Given the description of an element on the screen output the (x, y) to click on. 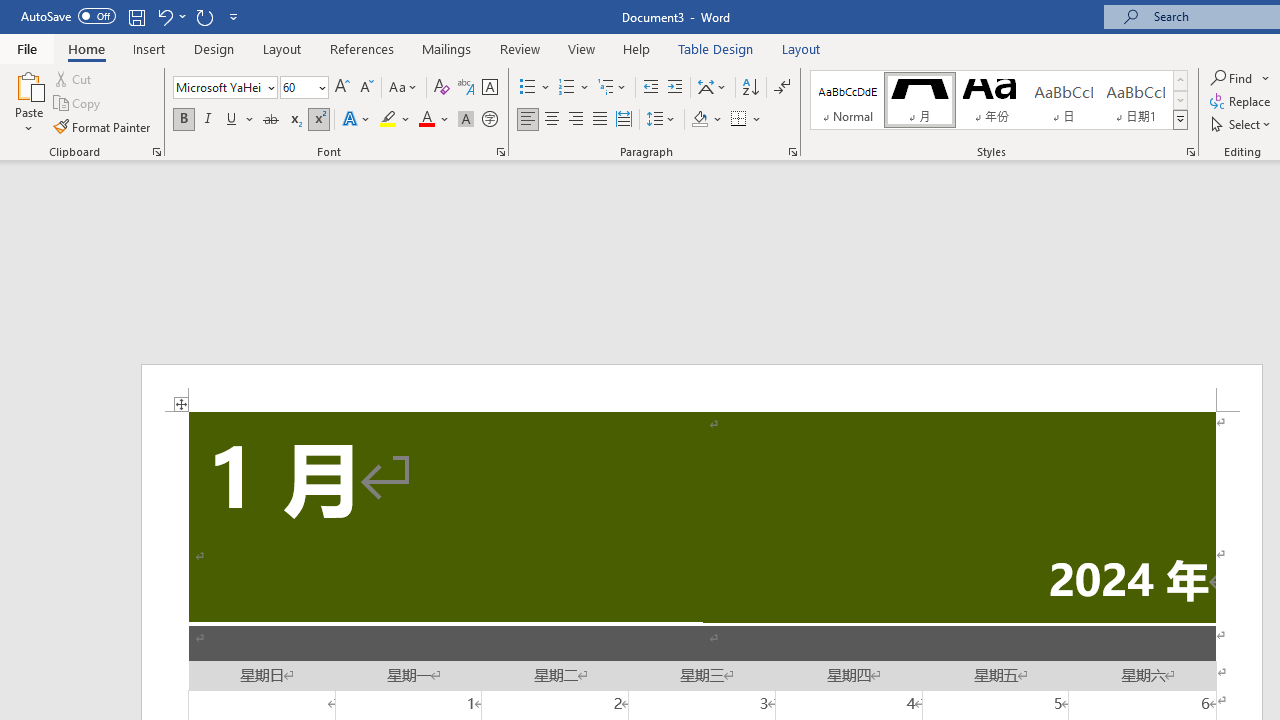
Layout (801, 48)
Customize Quick Access Toolbar (234, 15)
Text Highlight Color (395, 119)
Paragraph... (792, 151)
Undo Superscript (164, 15)
Shading RGB(0, 0, 0) (699, 119)
Shading (706, 119)
Header -Section 1- (701, 387)
Format Painter (103, 126)
Font... (500, 151)
Paste (28, 84)
Numbering (573, 87)
